Given the description of an element on the screen output the (x, y) to click on. 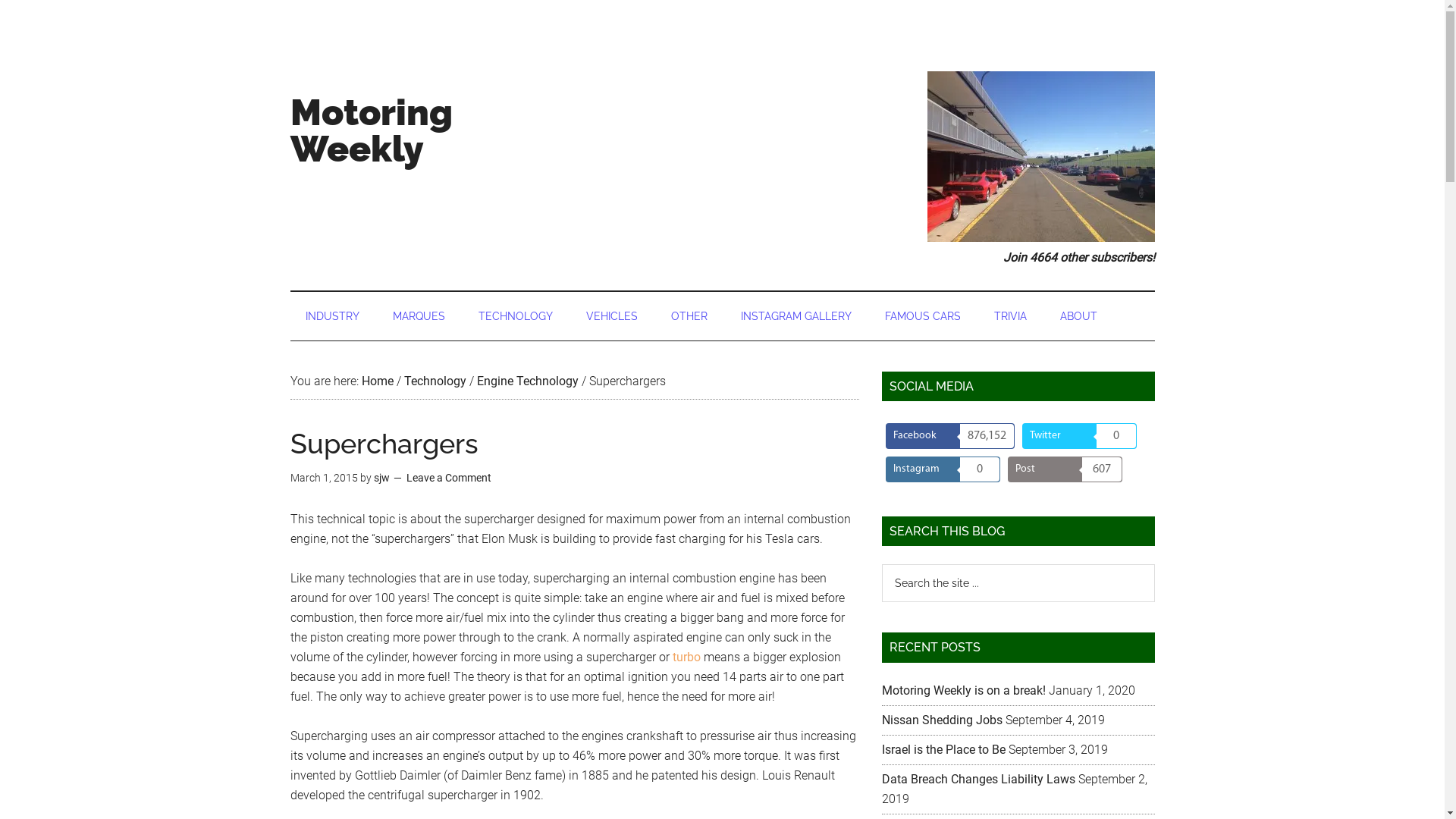
Data Breach Changes Liability Laws Element type: text (977, 778)
INSTAGRAM GALLERY Element type: text (795, 315)
Motoring Weekly is on a break! Element type: text (962, 690)
MARQUES Element type: text (418, 315)
sjw Element type: text (381, 477)
Motoring Weekly Element type: text (370, 130)
OTHER Element type: text (688, 315)
Twitter 0 Element type: text (1079, 435)
Facebook 876,152 Element type: text (949, 435)
Home Element type: text (376, 380)
Engine Technology Element type: text (526, 380)
Technology Element type: text (434, 380)
TRIVIA Element type: text (1009, 315)
TECHNOLOGY Element type: text (514, 315)
turbo Element type: text (685, 656)
ABOUT Element type: text (1078, 315)
Search Element type: text (1154, 563)
Leave a Comment Element type: text (448, 477)
Post 607 Element type: text (1064, 469)
VEHICLES Element type: text (611, 315)
FAMOUS CARS Element type: text (922, 315)
Israel is the Place to Be Element type: text (942, 749)
Instagram 0 Element type: text (942, 469)
Nissan Shedding Jobs Element type: text (941, 719)
INDUSTRY Element type: text (331, 315)
